Given the description of an element on the screen output the (x, y) to click on. 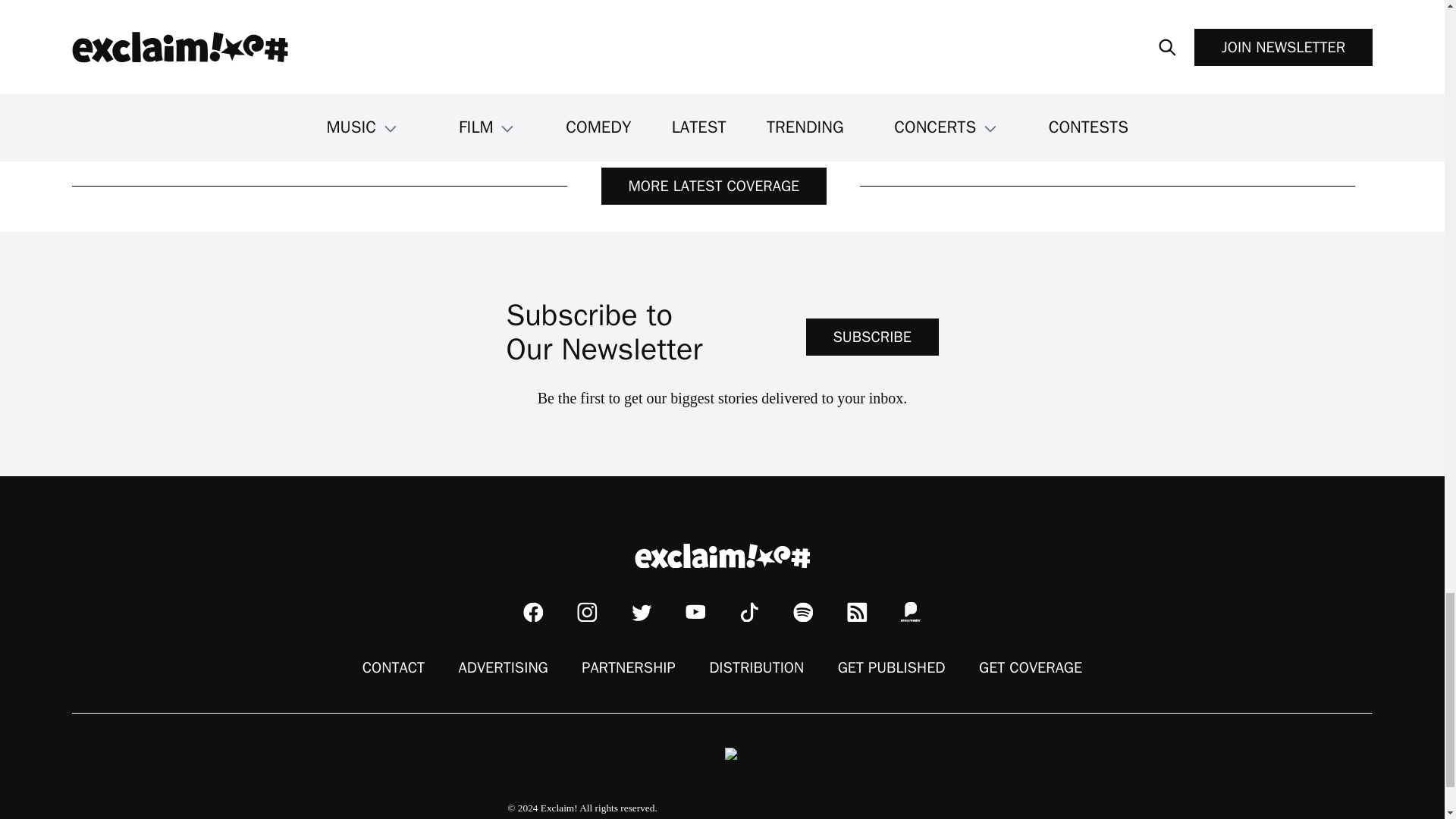
Here's the Polaris Music Prize 2024 Short List (229, 38)
